Given the description of an element on the screen output the (x, y) to click on. 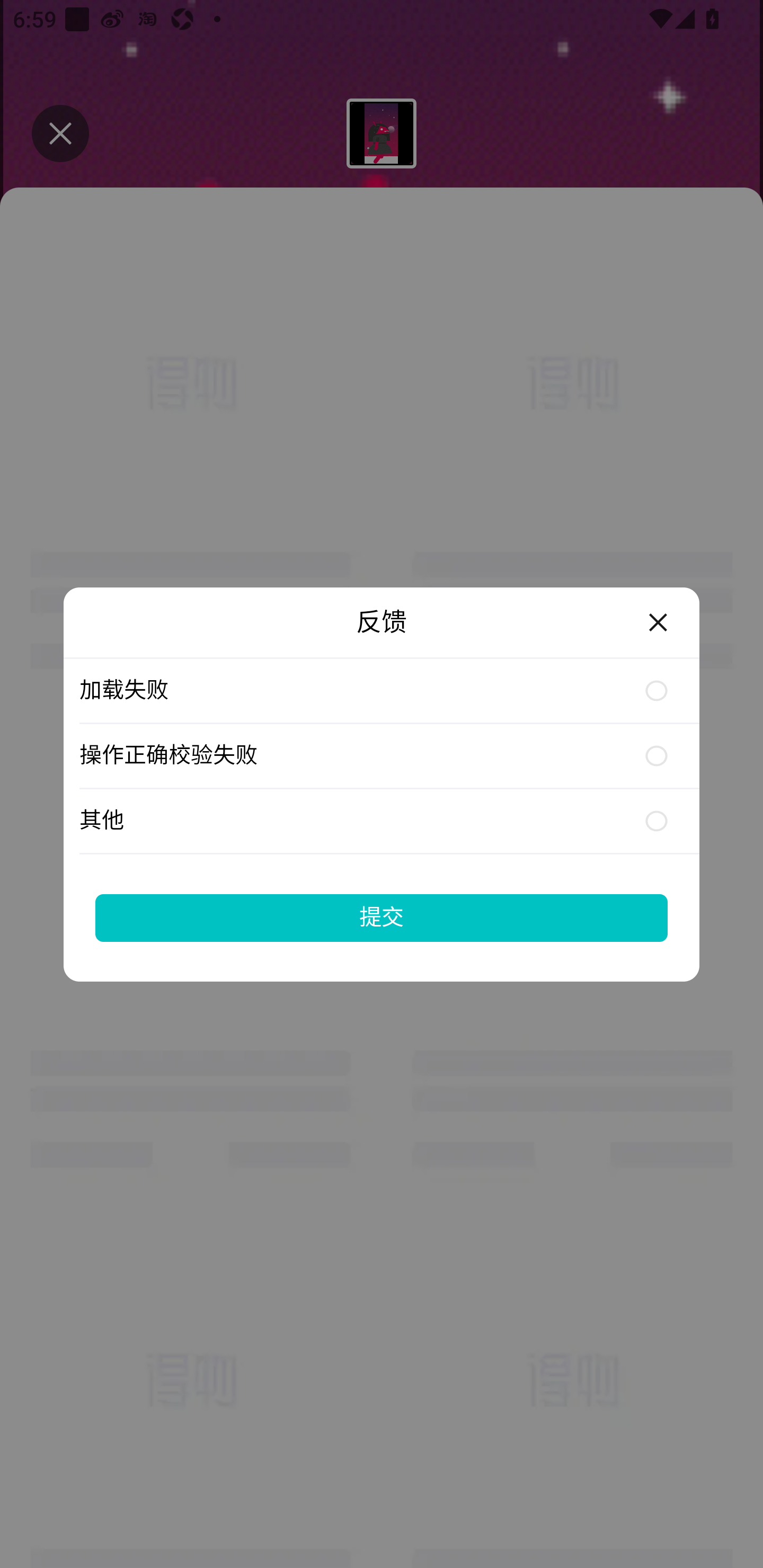
提交 (381, 917)
